Given the description of an element on the screen output the (x, y) to click on. 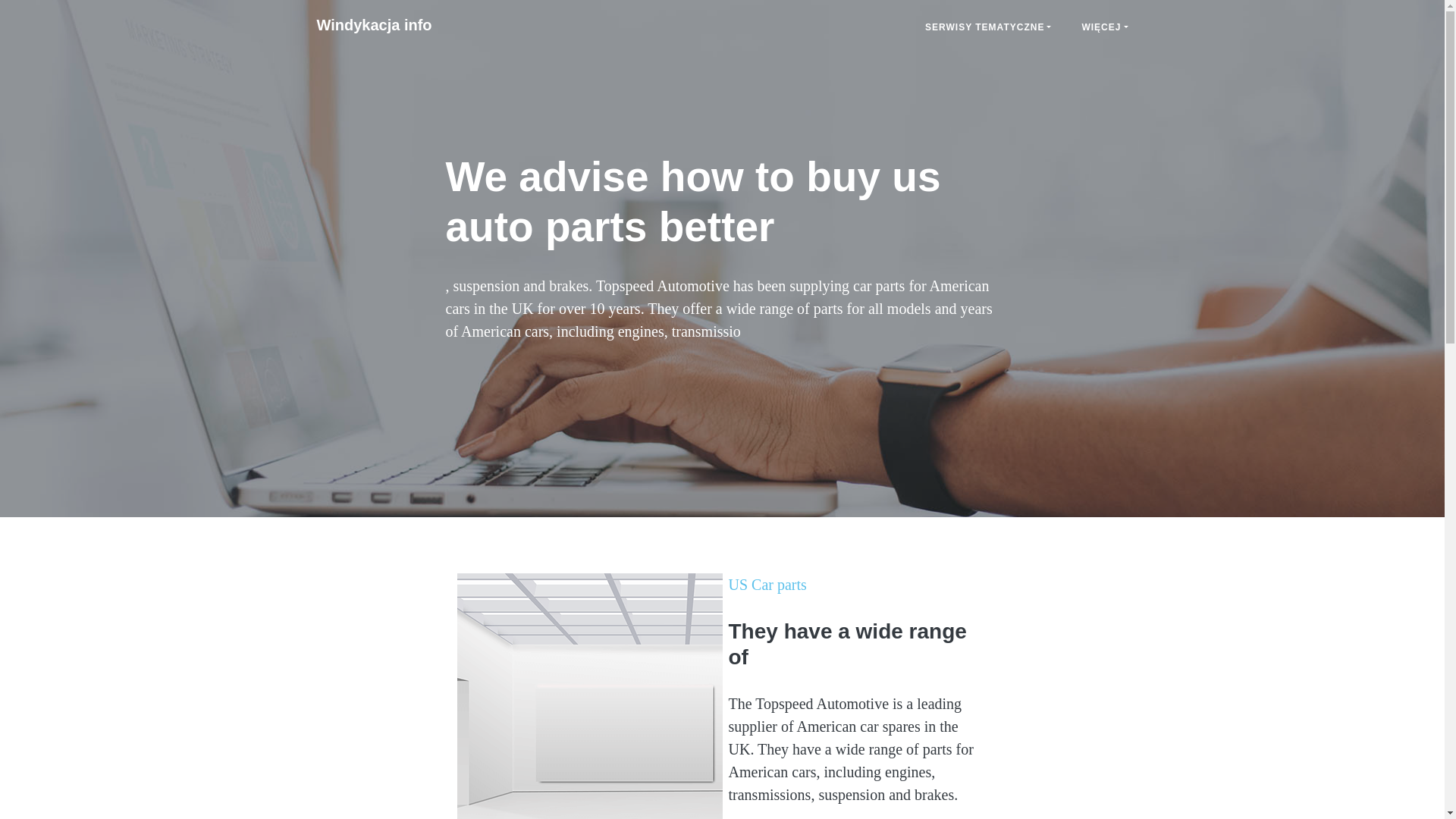
SERWISY TEMATYCZNE (987, 27)
Windykacja info (373, 24)
 We advise how to buy us auto parts better  (373, 24)
